Given the description of an element on the screen output the (x, y) to click on. 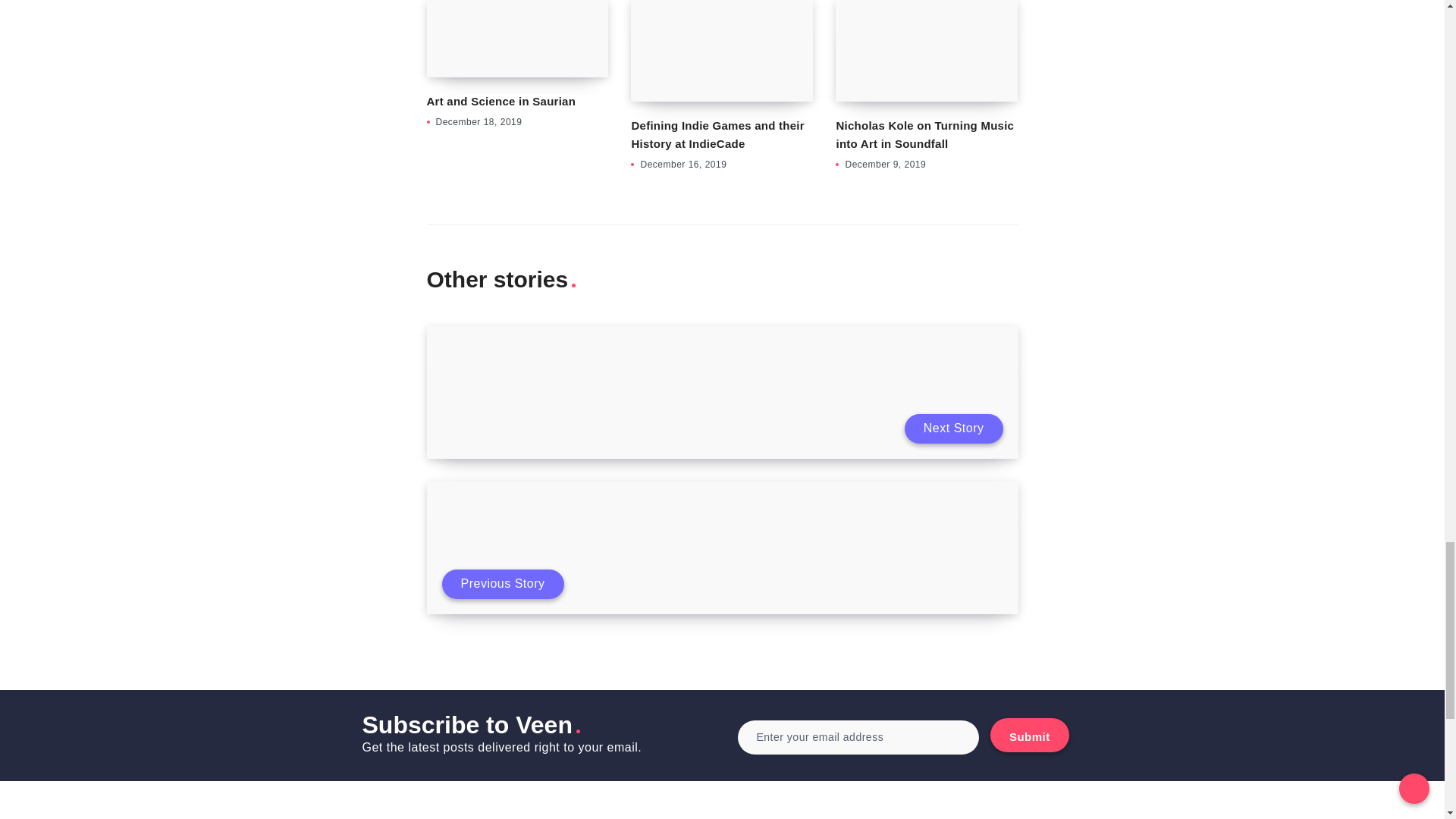
Submit (1029, 735)
Defining Indie Games and their History at IndieCade (716, 133)
Art and Science in Saurian (500, 101)
Nicholas Kole on Turning Music into Art in Soundfall (924, 133)
